Given the description of an element on the screen output the (x, y) to click on. 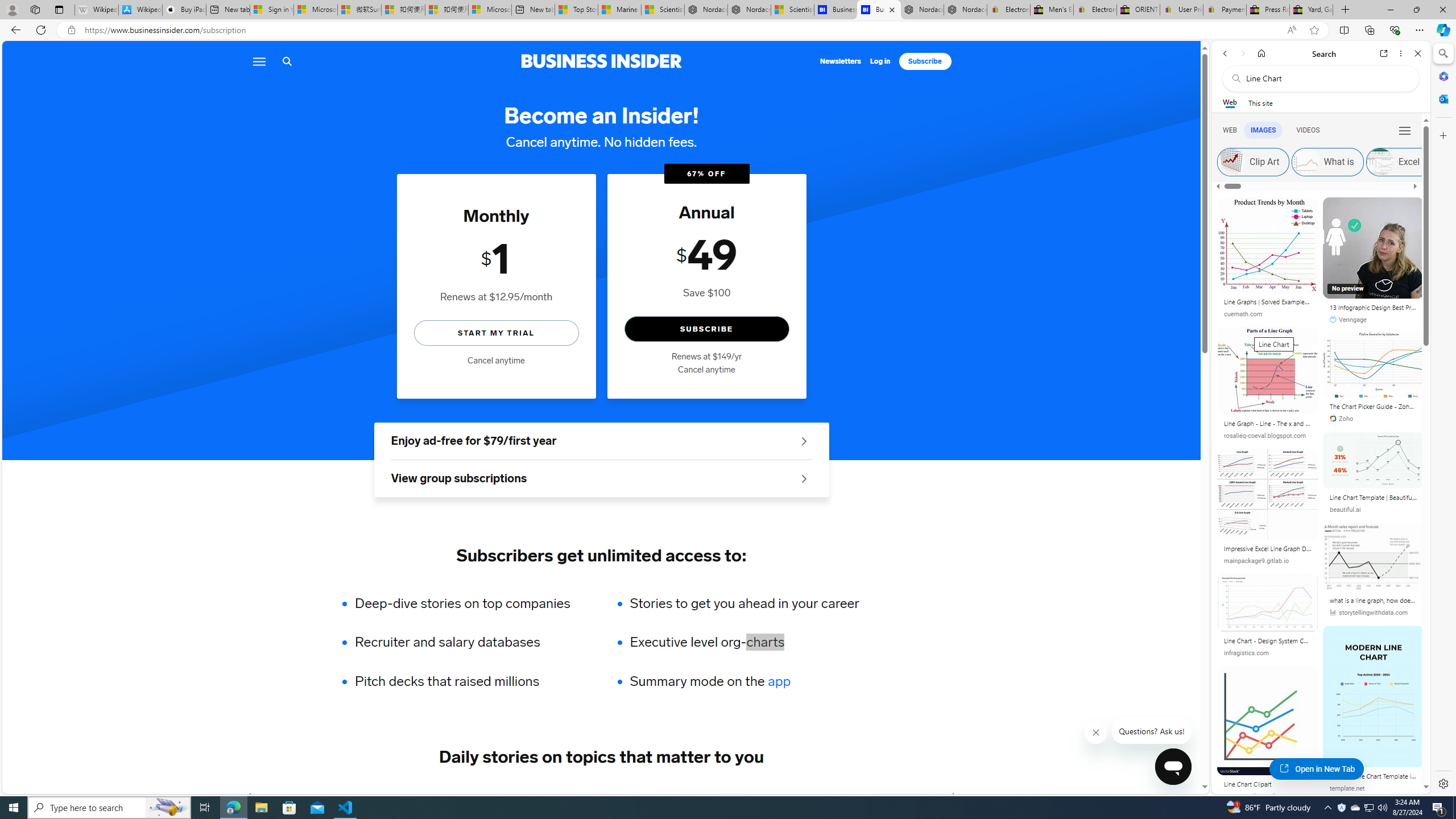
Go to the search page. (286, 61)
Top Stories - MSN (576, 9)
Search Filter, VIDEOS (1307, 129)
Clip Art (1253, 162)
What is (1305, 162)
START MY TRIAL (496, 332)
Line Chart Clipart (1267, 783)
template.net (1372, 787)
Search icon (286, 61)
